Given the description of an element on the screen output the (x, y) to click on. 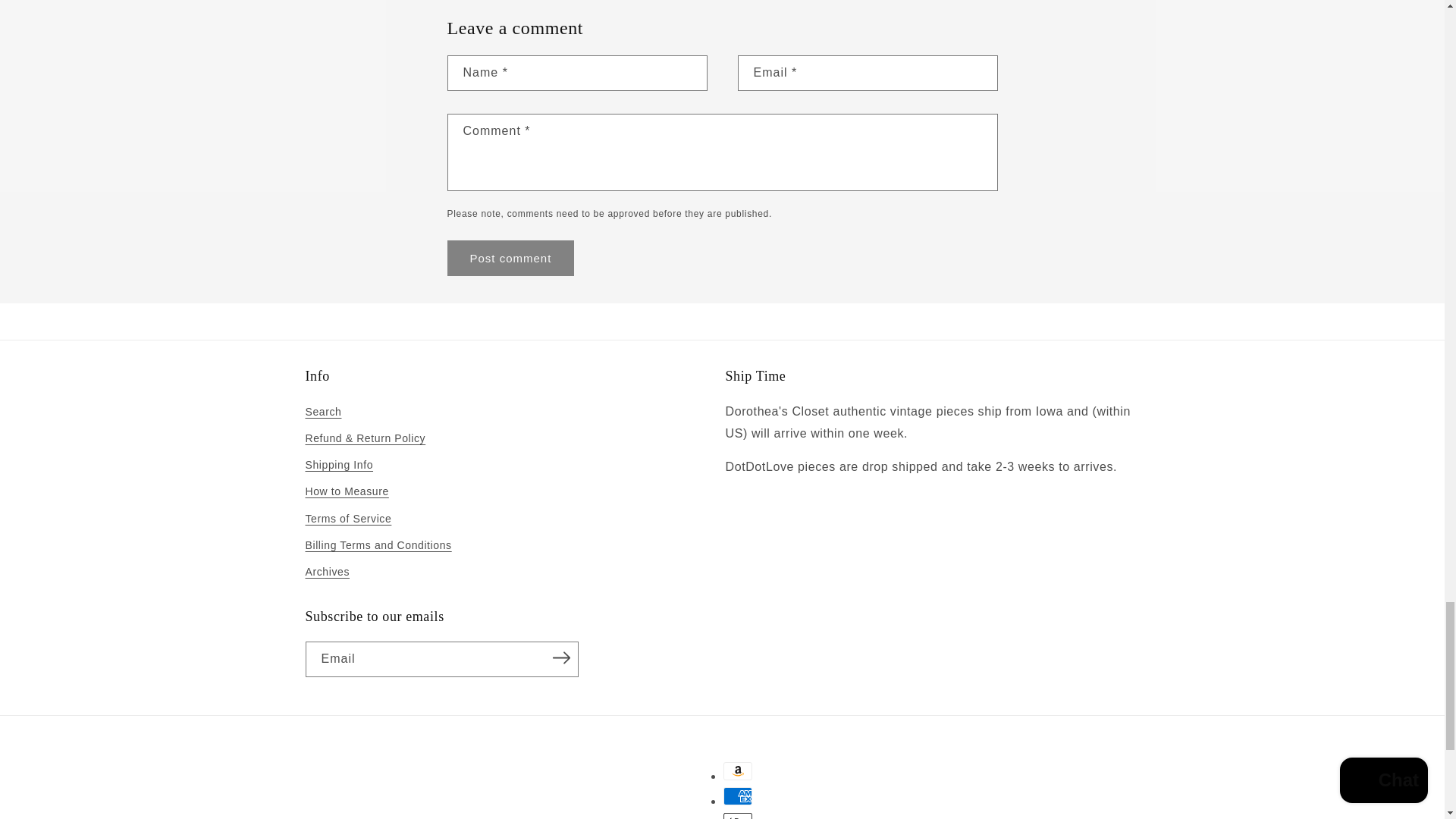
Post comment (510, 258)
American Express (737, 796)
Apple Pay (737, 816)
Amazon (737, 771)
